Given the description of an element on the screen output the (x, y) to click on. 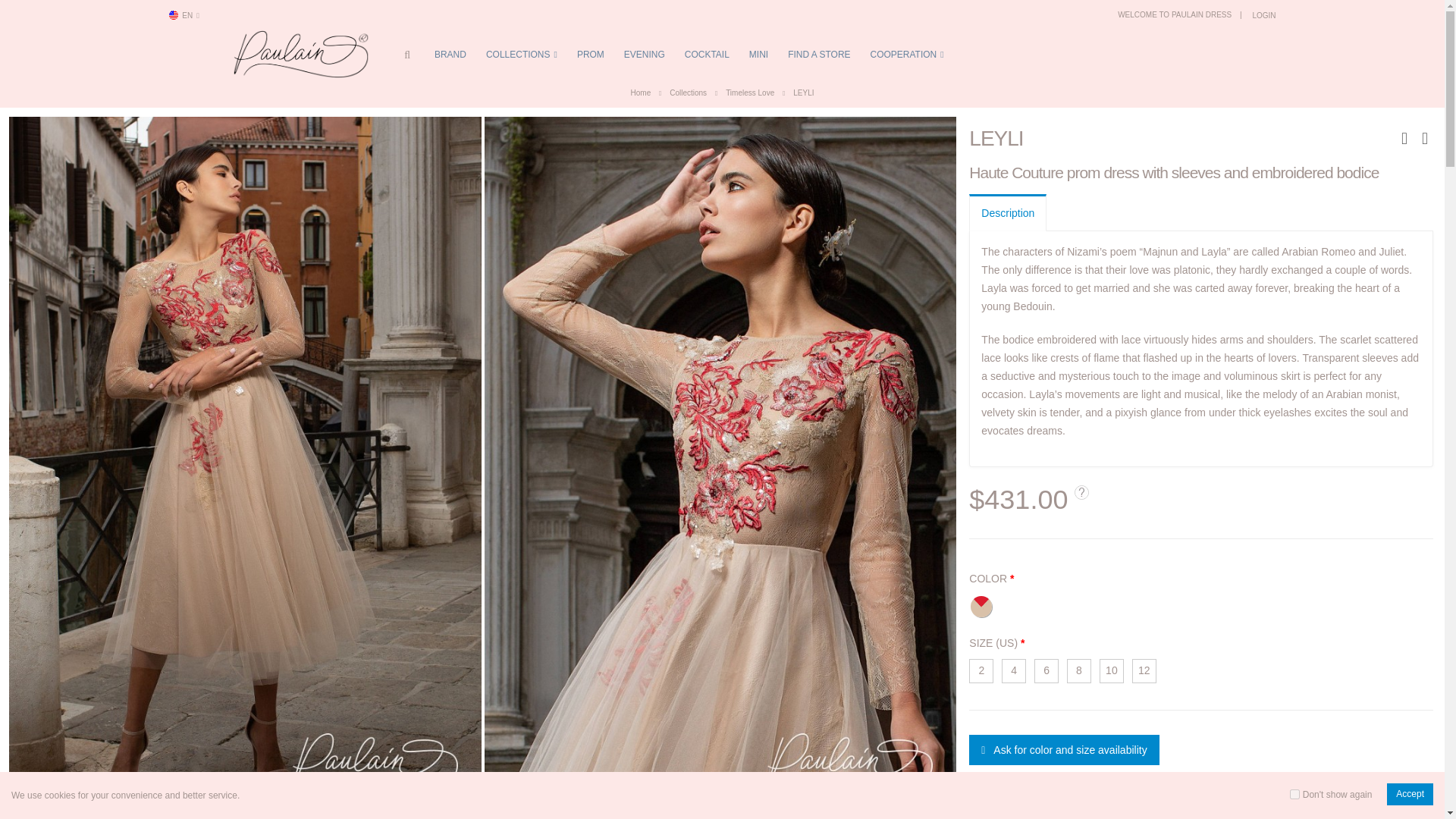
PaulainDressEn (300, 53)
on (1295, 794)
English (172, 14)
